Given the description of an element on the screen output the (x, y) to click on. 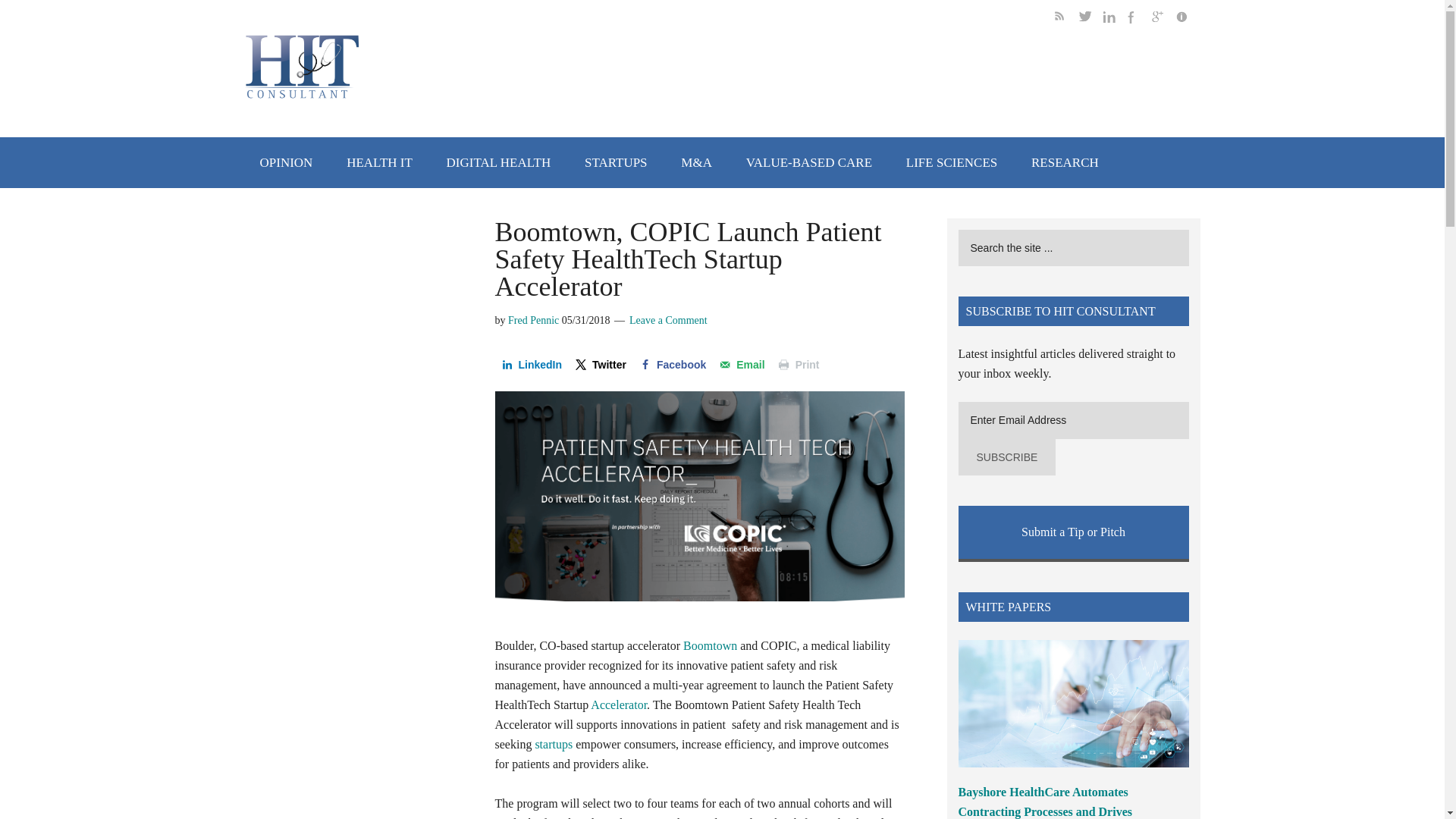
OPINION (285, 162)
HEALTH IT (379, 162)
follow (1138, 19)
follow (1114, 19)
VALUE-BASED CARE (808, 162)
DIGITAL HEALTH (498, 162)
STARTUPS (615, 162)
get feed (1066, 19)
Fred Pennic (533, 319)
RESEARCH (1064, 162)
follow (1162, 19)
get more info (1186, 19)
follow (1090, 19)
